Given the description of an element on the screen output the (x, y) to click on. 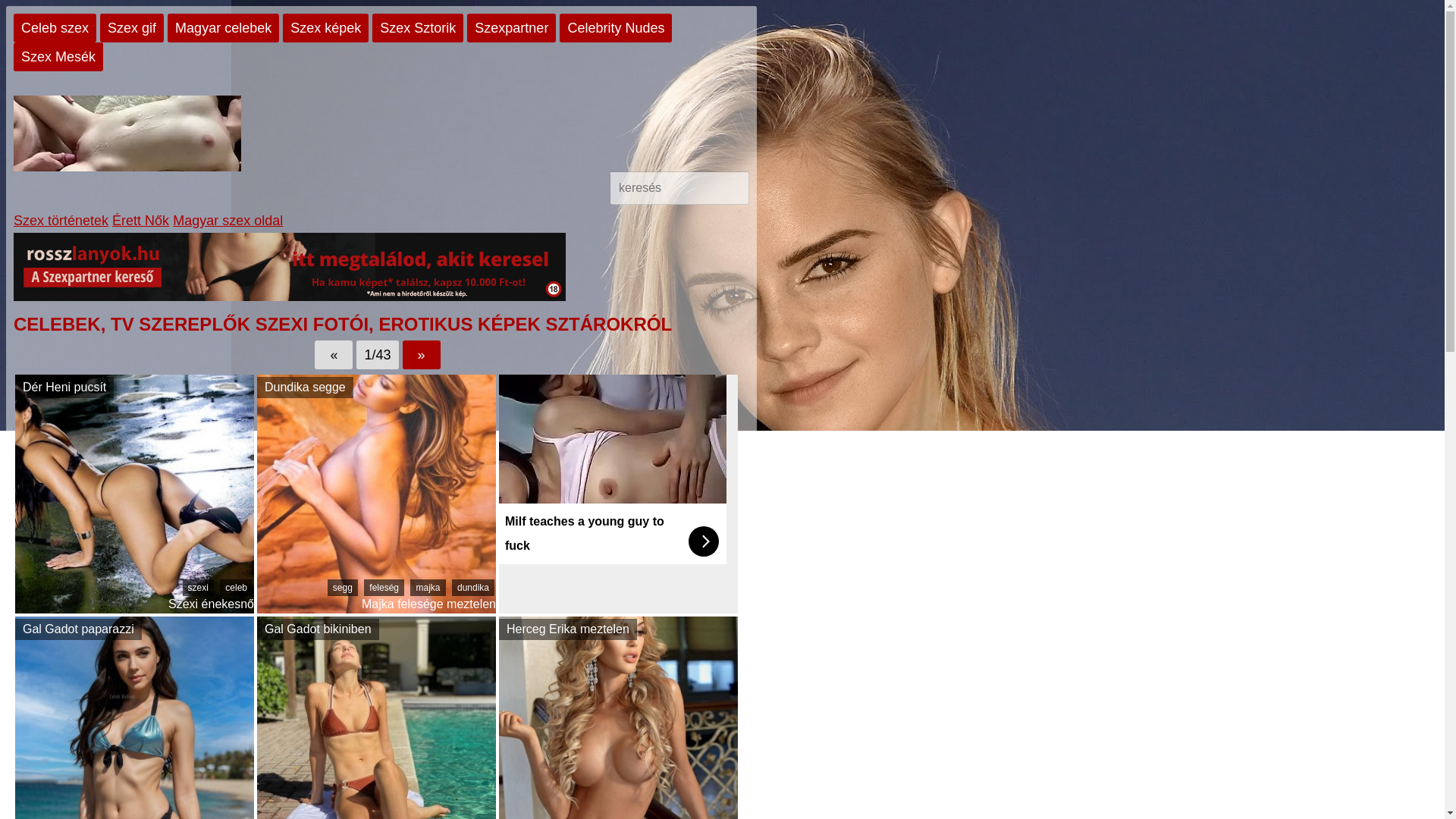
Celeb szex (54, 27)
Magyar celebek (223, 27)
dundika (473, 587)
Celebrity Nudes (615, 27)
celeb (235, 587)
Szexpartner (511, 27)
majka (427, 587)
Szex gif (131, 27)
segg (342, 587)
Szex Sztorik (417, 27)
